Given the description of an element on the screen output the (x, y) to click on. 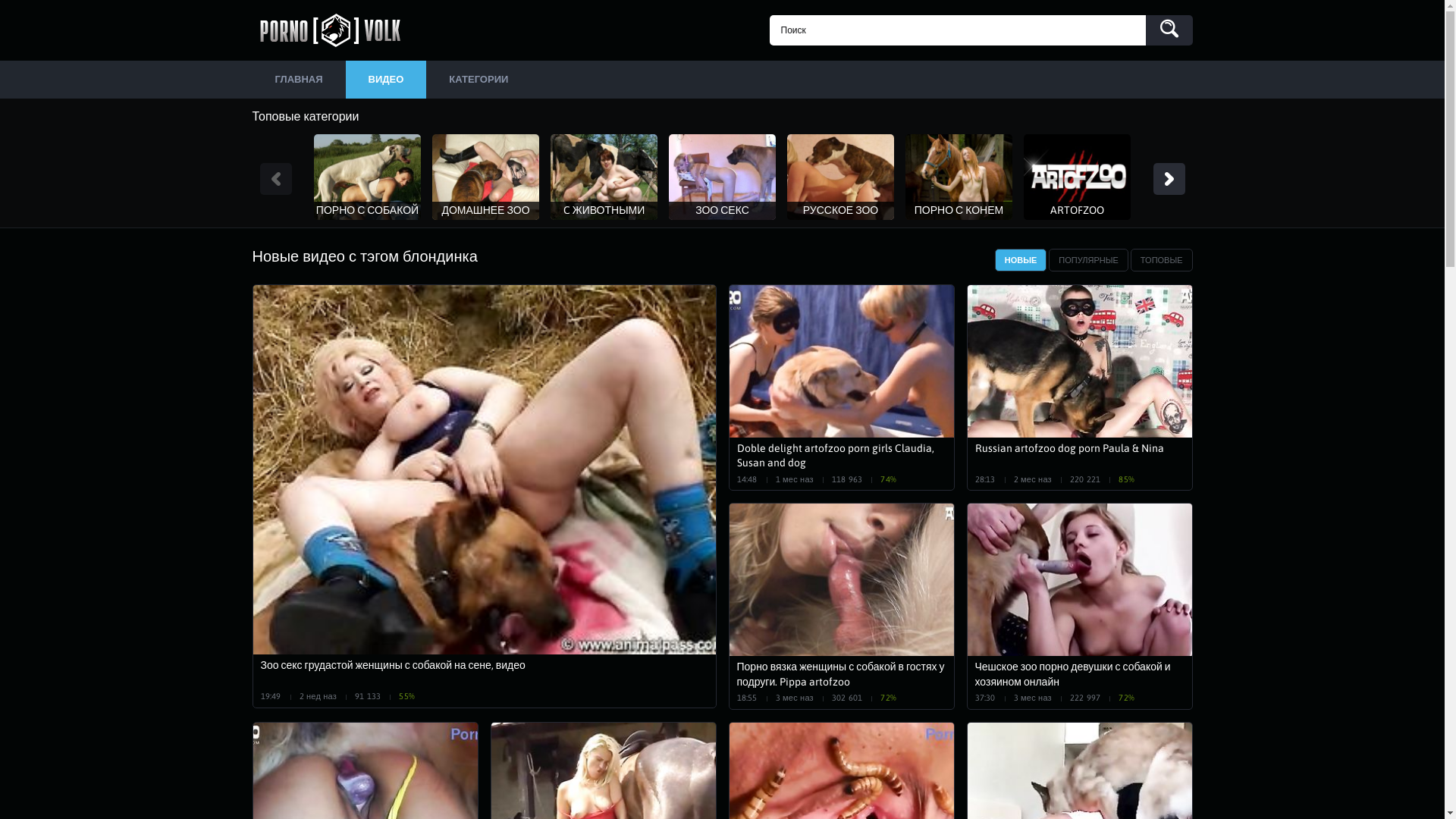
PornoVolk Element type: text (334, 30)
ARTOFZOO Element type: text (1076, 176)
